Given the description of an element on the screen output the (x, y) to click on. 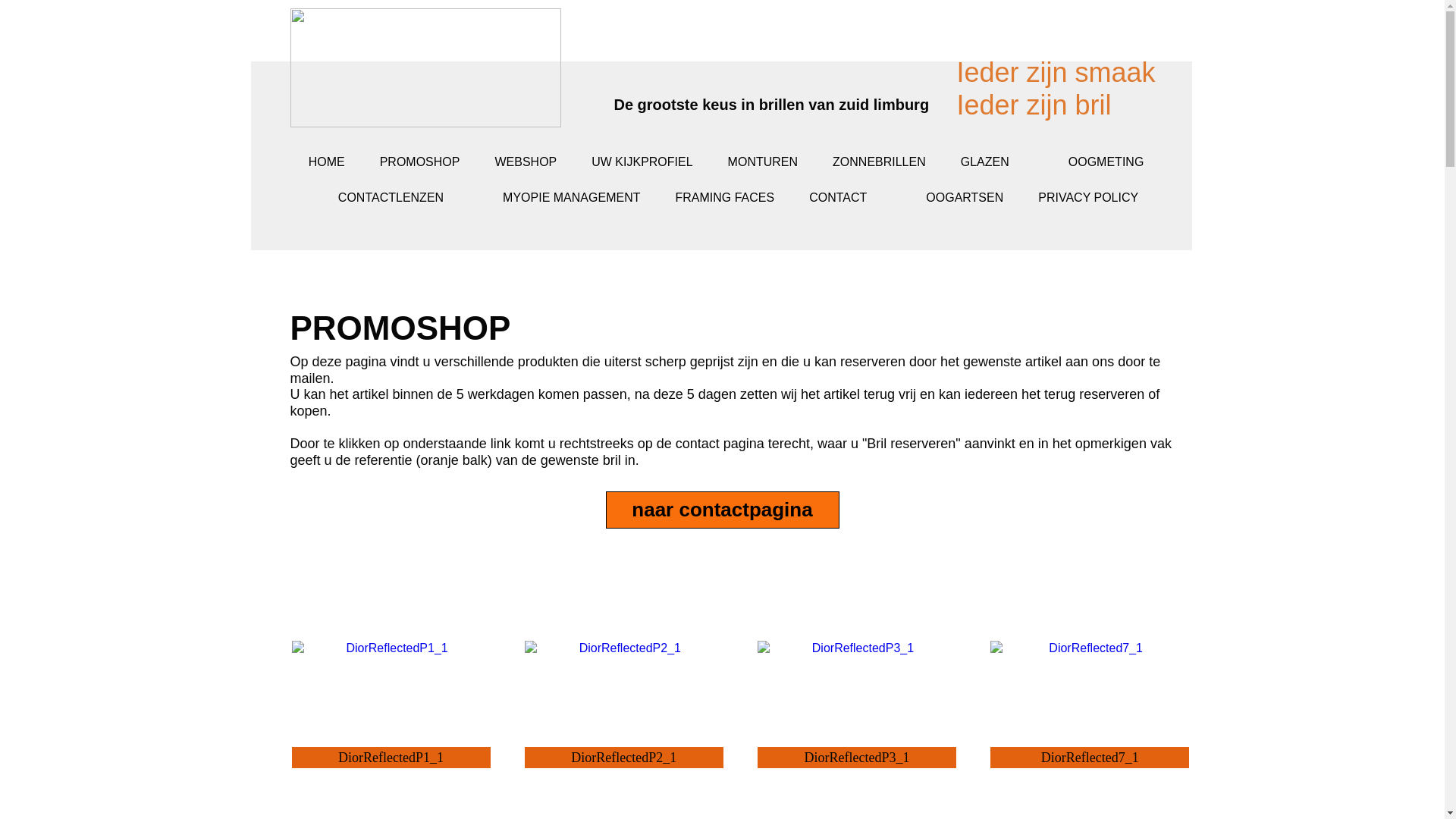
UW KIJKPROFIEL Element type: text (641, 161)
DiorReflectedP2_1 Element type: hover (623, 647)
ZONNEBRILLEN Element type: text (879, 161)
DiorReflectedP1_1 Element type: text (390, 658)
DiorReflectedP3_1 Element type: hover (856, 647)
DiorReflected7_1 Element type: text (1089, 658)
CONTACTLENZEN Element type: text (402, 199)
OOGMETING Element type: text (1118, 164)
DiorReflectedP3_1 Element type: text (856, 658)
PROMOSHOP Element type: text (419, 161)
OOGARTSEN Element type: text (964, 196)
WEBSHOP Element type: text (525, 161)
HOME Element type: text (326, 161)
naar contactpagina Element type: text (722, 509)
GLAZEN Element type: text (997, 164)
MYOPIE MANAGEMENT Element type: text (571, 196)
CONTACT Element type: text (849, 199)
MONTUREN Element type: text (762, 161)
DiorReflected7_1 Element type: hover (1089, 647)
FRAMING FACES Element type: text (724, 196)
DiorReflectedP1_1 Element type: hover (390, 647)
PRIVACY POLICY Element type: text (1087, 196)
DiorReflectedP2_1 Element type: text (623, 658)
